Given the description of an element on the screen output the (x, y) to click on. 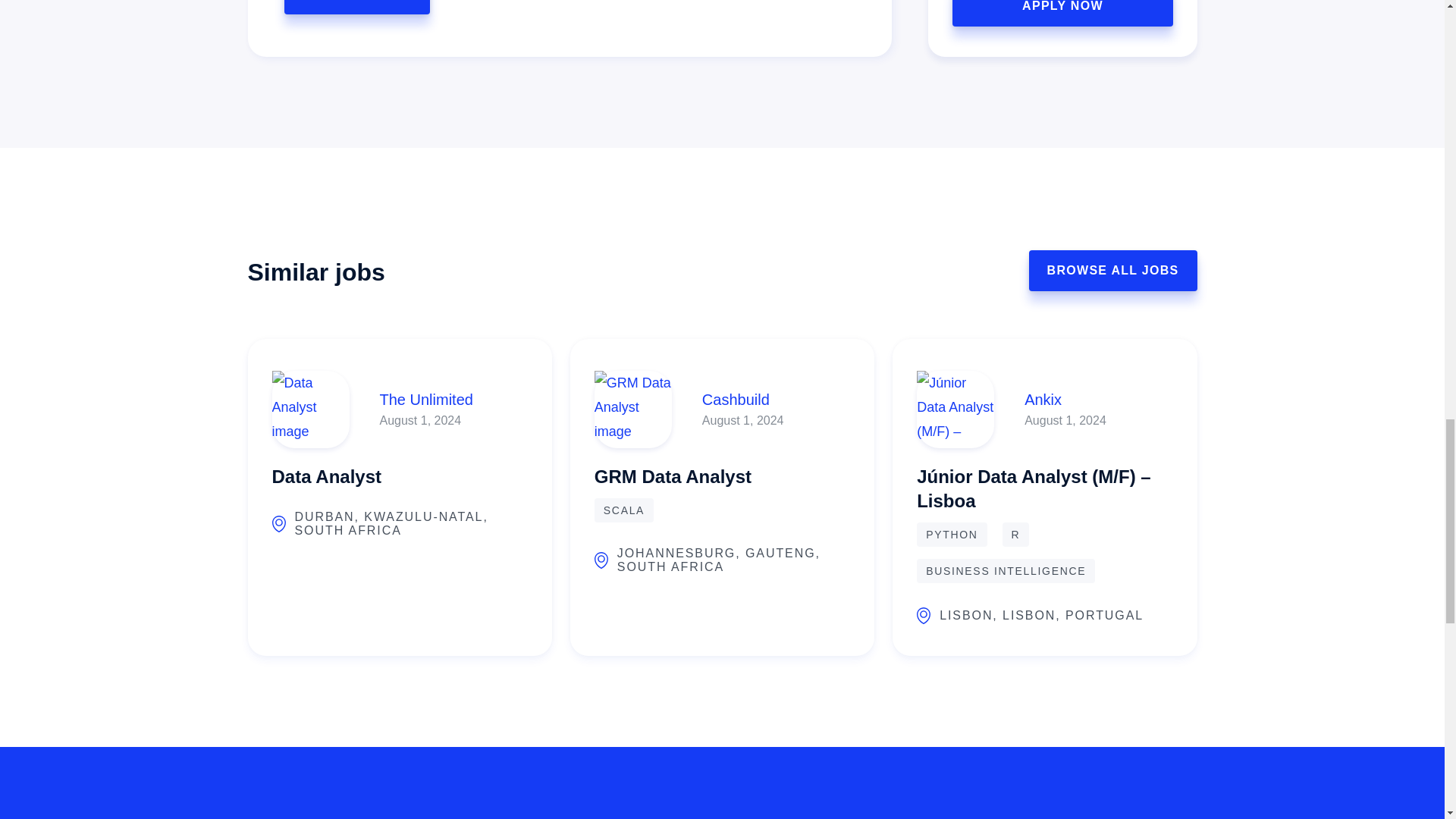
The Unlimited (424, 399)
GRM Data Analyst (672, 472)
BUSINESS INTELLIGENCE (1005, 570)
Data Analyst (325, 472)
PYTHON (952, 534)
BROWSE ALL JOBS (1112, 270)
Cashbuild (742, 399)
SCALA (623, 509)
Ankix (1065, 399)
APPLY NOW (356, 7)
R (1016, 534)
